Given the description of an element on the screen output the (x, y) to click on. 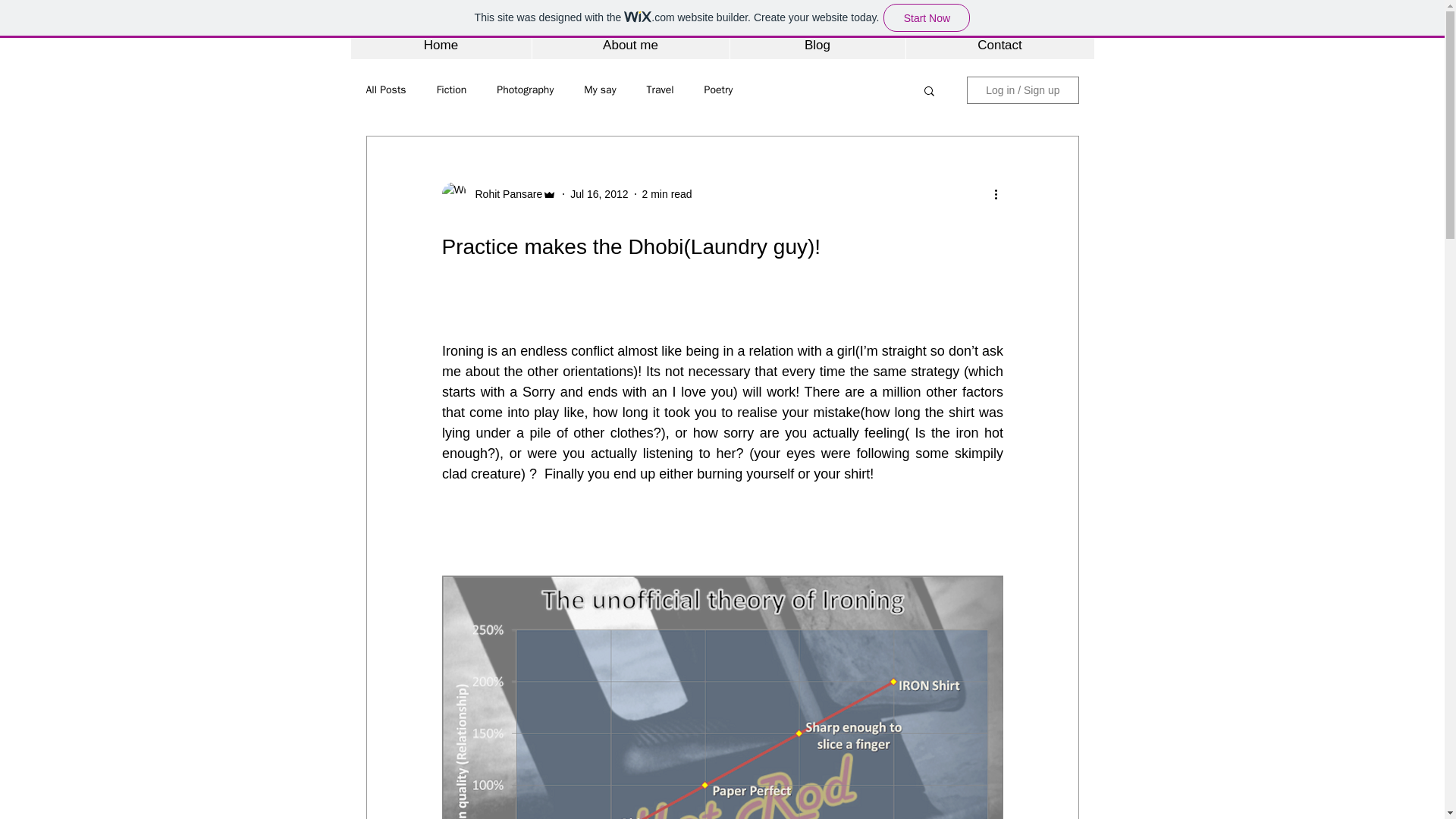
Home (440, 44)
My say (599, 90)
Travel (660, 90)
Contact (999, 44)
Rohit Pansare (503, 194)
All Posts (385, 90)
Photography (524, 90)
shirt (960, 412)
Poetry (718, 90)
Fiction (451, 90)
About me (630, 44)
clothes (631, 432)
2 min read (667, 193)
Blog (817, 44)
Jul 16, 2012 (598, 193)
